Given the description of an element on the screen output the (x, y) to click on. 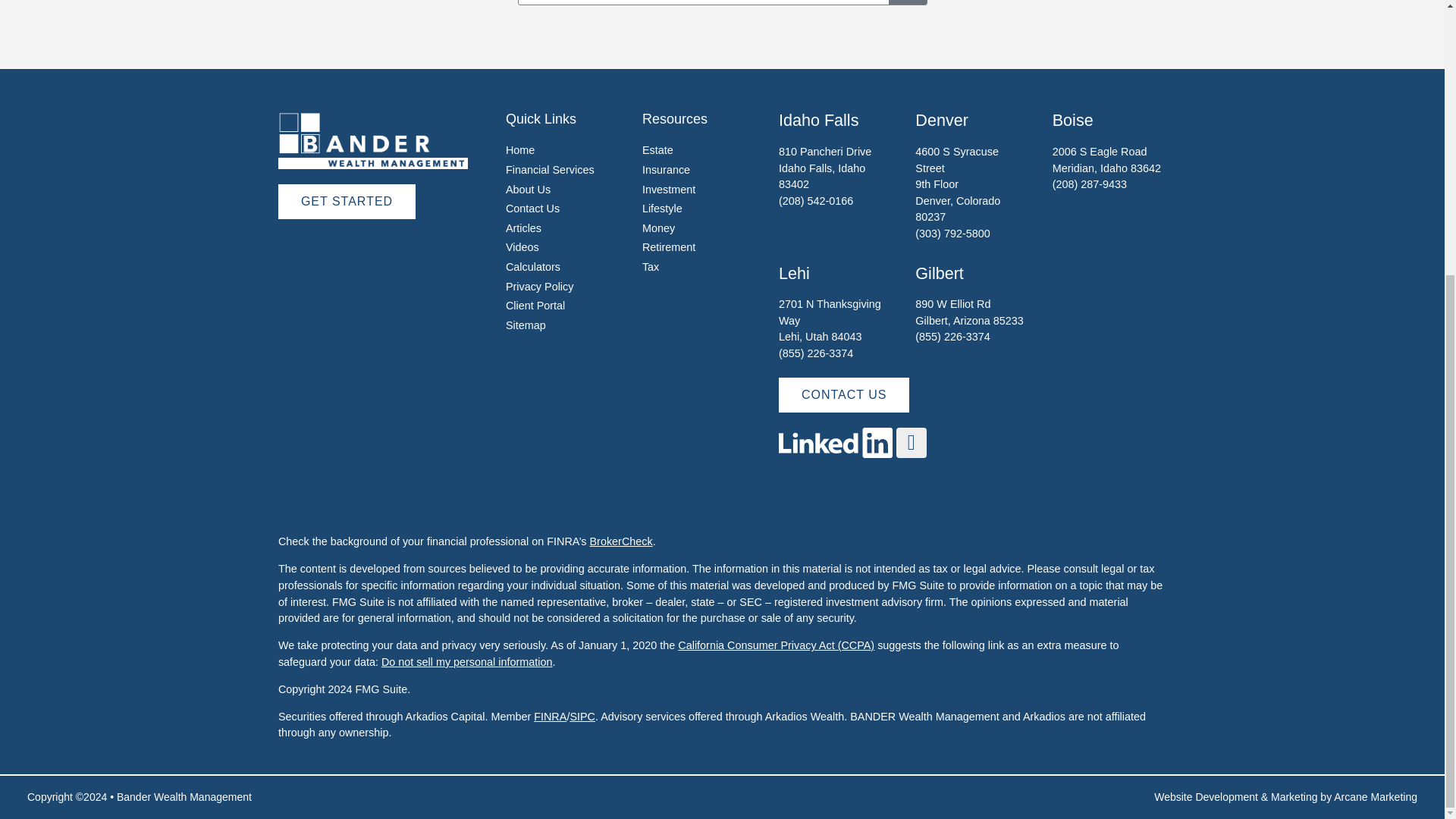
Financial Services (549, 169)
Videos (521, 246)
Insurance (666, 169)
Lifestyle (662, 208)
About Us (527, 189)
Articles (523, 227)
Home (519, 150)
Resources (674, 118)
Client Portal (534, 305)
Estate (657, 150)
